Given the description of an element on the screen output the (x, y) to click on. 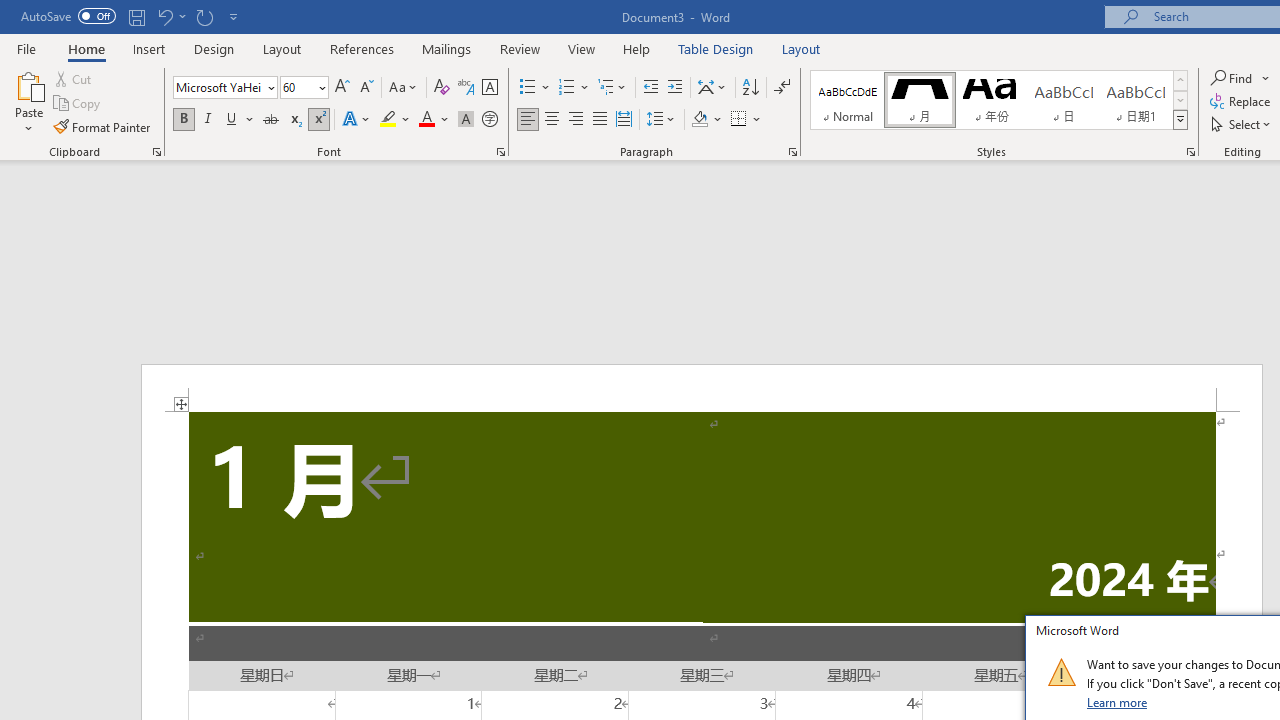
Align Left (527, 119)
Character Shading (465, 119)
AutomationID: QuickStylesGallery (999, 99)
Clear Formatting (442, 87)
Show/Hide Editing Marks (781, 87)
Styles (1179, 120)
Grow Font (342, 87)
Shading RGB(0, 0, 0) (699, 119)
